Given the description of an element on the screen output the (x, y) to click on. 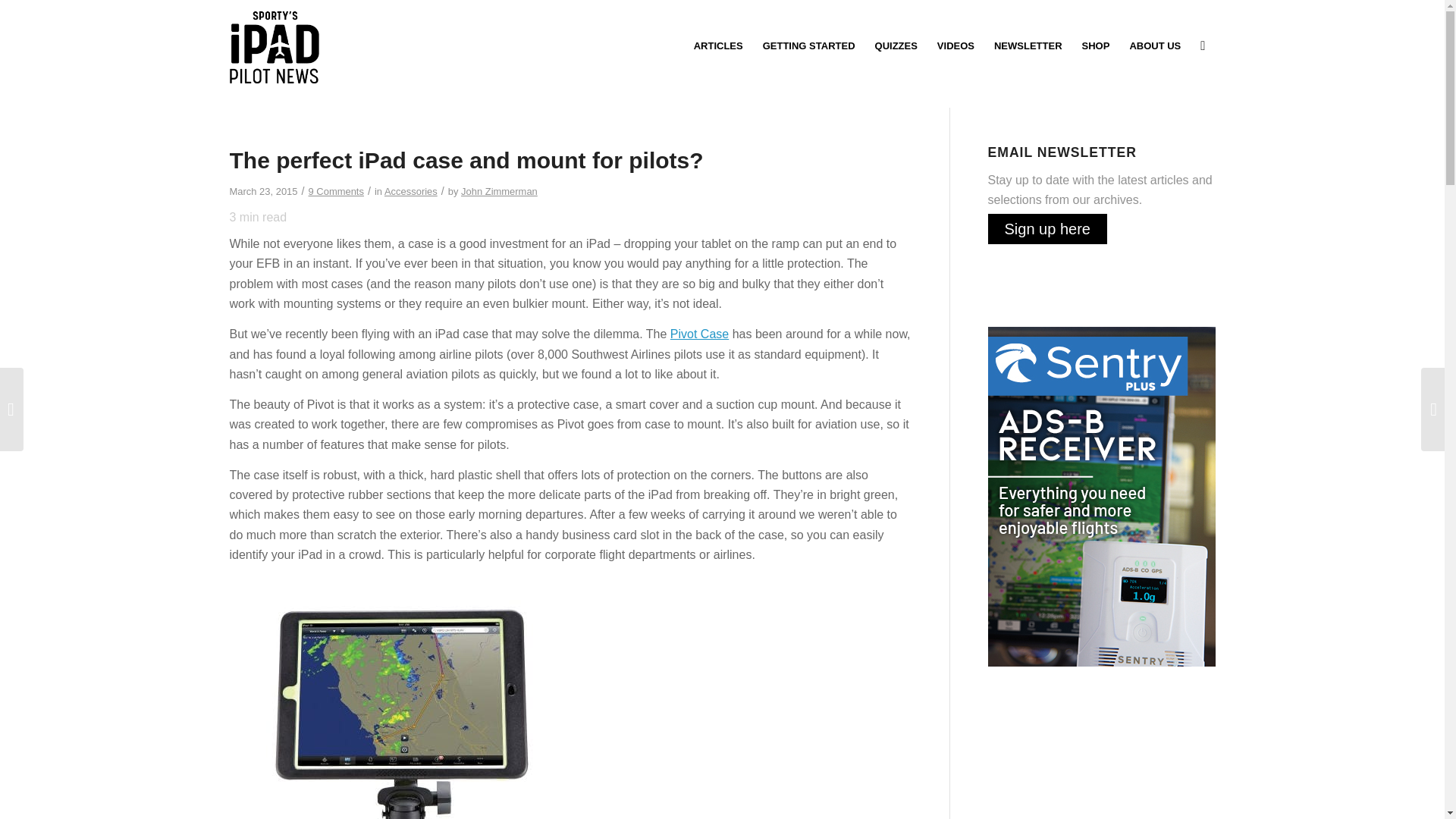
logo (273, 45)
John Zimmerman (499, 191)
NEWSLETTER (1027, 45)
9 Comments (336, 191)
Pivot Case (699, 333)
Accessories (411, 191)
Posts by John Zimmerman (499, 191)
GETTING STARTED (808, 45)
Pivot Case at Sporty's (699, 333)
